Given the description of an element on the screen output the (x, y) to click on. 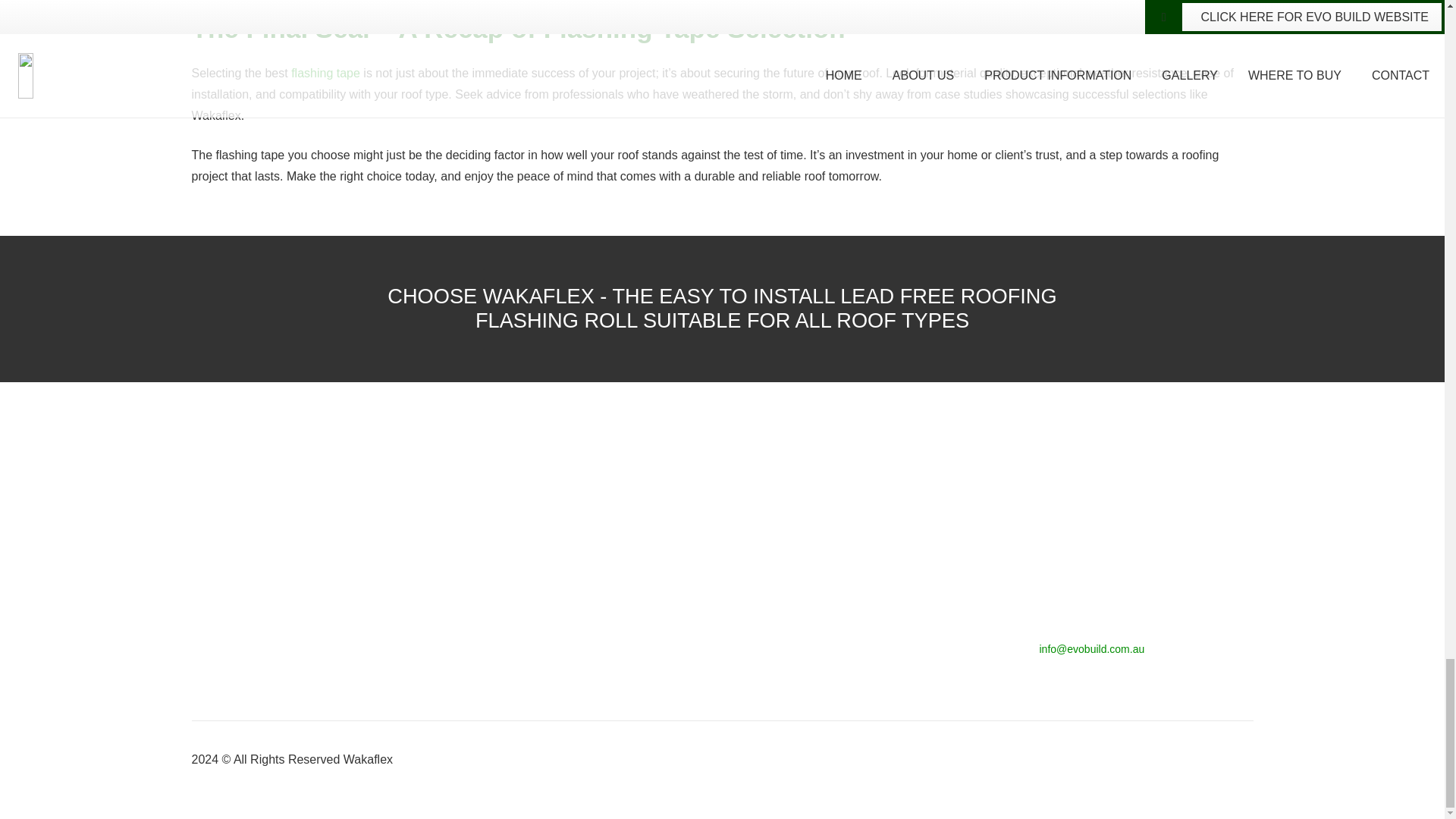
Gallery (758, 672)
flashing tape (325, 72)
About Us (490, 567)
Where To Buy (503, 603)
Home (481, 532)
Blog (477, 672)
Product Features (785, 532)
Contact (485, 637)
Installation (768, 603)
